Given the description of an element on the screen output the (x, y) to click on. 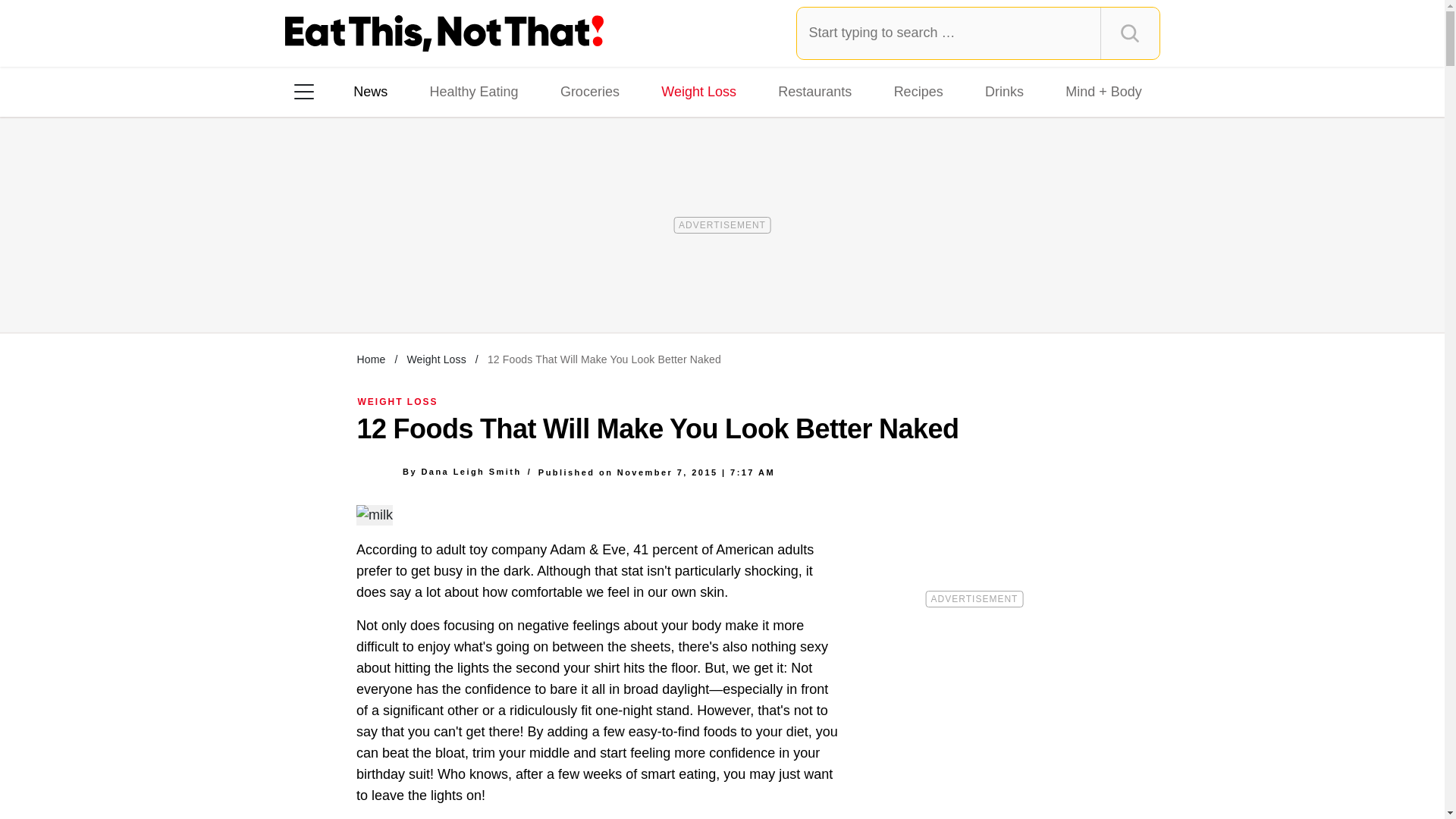
TikTok (399, 287)
Instagram (357, 287)
Dana Leigh Smith (470, 470)
Restaurants (814, 91)
Groceries (590, 91)
Healthy Eating (473, 91)
Facebook (314, 287)
Home (370, 358)
Weight Loss (698, 91)
Eat This Not That Homepage (444, 33)
